Given the description of an element on the screen output the (x, y) to click on. 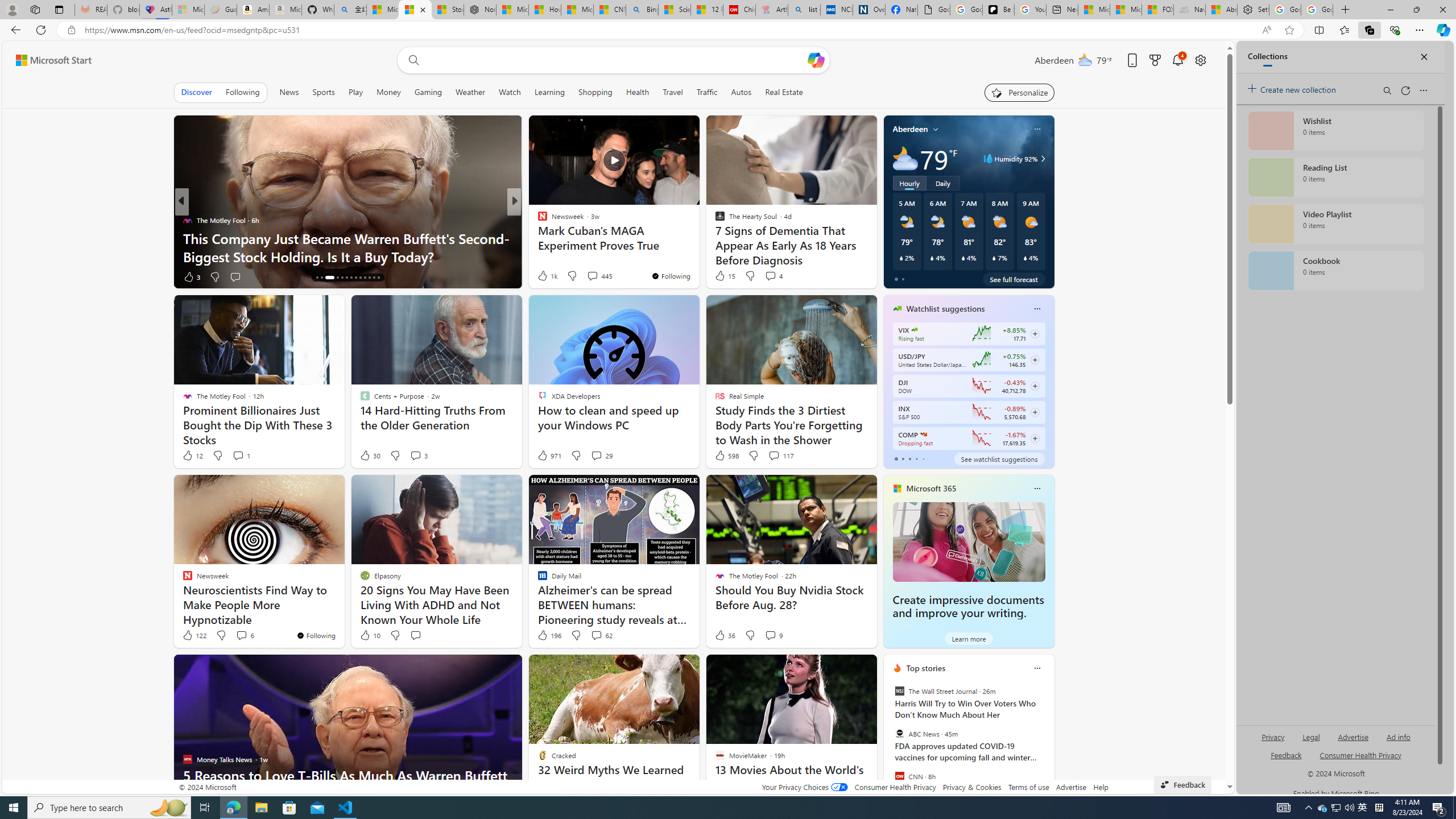
Gaming (428, 92)
Class: weather-arrow-glyph (1043, 158)
Autos (740, 92)
Study finds certain personality traits can predict dementia (697, 247)
Asthma Inhalers: Names and Types (155, 9)
598 Like (726, 455)
430 Like (545, 276)
